Given the description of an element on the screen output the (x, y) to click on. 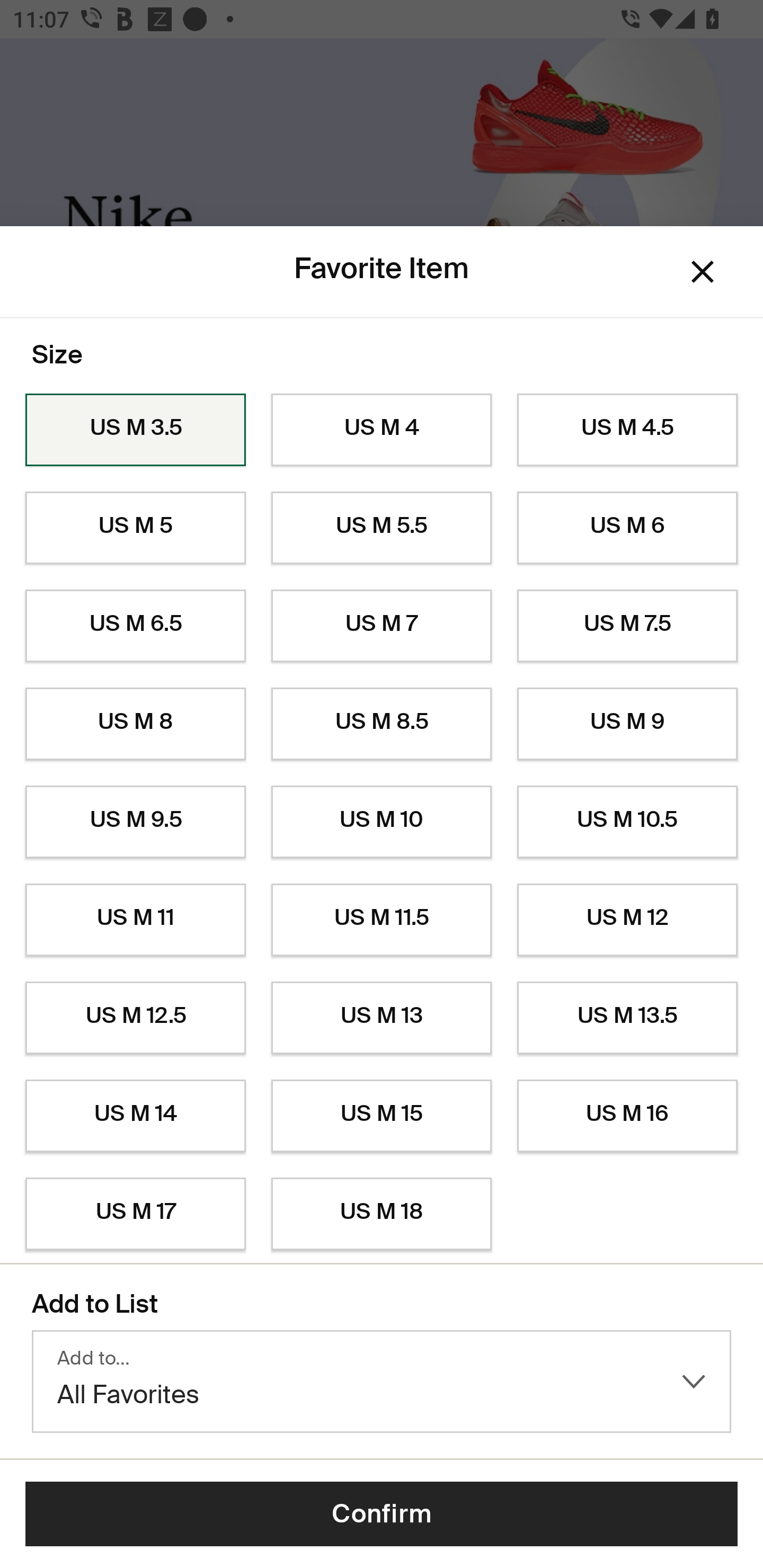
Dismiss (702, 271)
US M 3.5 (135, 430)
US M 4 (381, 430)
US M 4.5 (627, 430)
US M 5 (135, 527)
US M 5.5 (381, 527)
US M 6 (627, 527)
US M 6.5 (135, 626)
US M 7 (381, 626)
US M 7.5 (627, 626)
US M 8 (135, 724)
US M 8.5 (381, 724)
US M 9 (627, 724)
US M 9.5 (135, 822)
US M 10 (381, 822)
US M 10.5 (627, 822)
US M 11 (135, 919)
US M 11.5 (381, 919)
US M 12 (627, 919)
US M 12.5 (135, 1018)
US M 13 (381, 1018)
US M 13.5 (627, 1018)
US M 14 (135, 1116)
US M 15 (381, 1116)
US M 16 (627, 1116)
US M 17 (135, 1214)
US M 18 (381, 1214)
Add to… All Favorites (381, 1381)
Confirm (381, 1513)
